Given the description of an element on the screen output the (x, y) to click on. 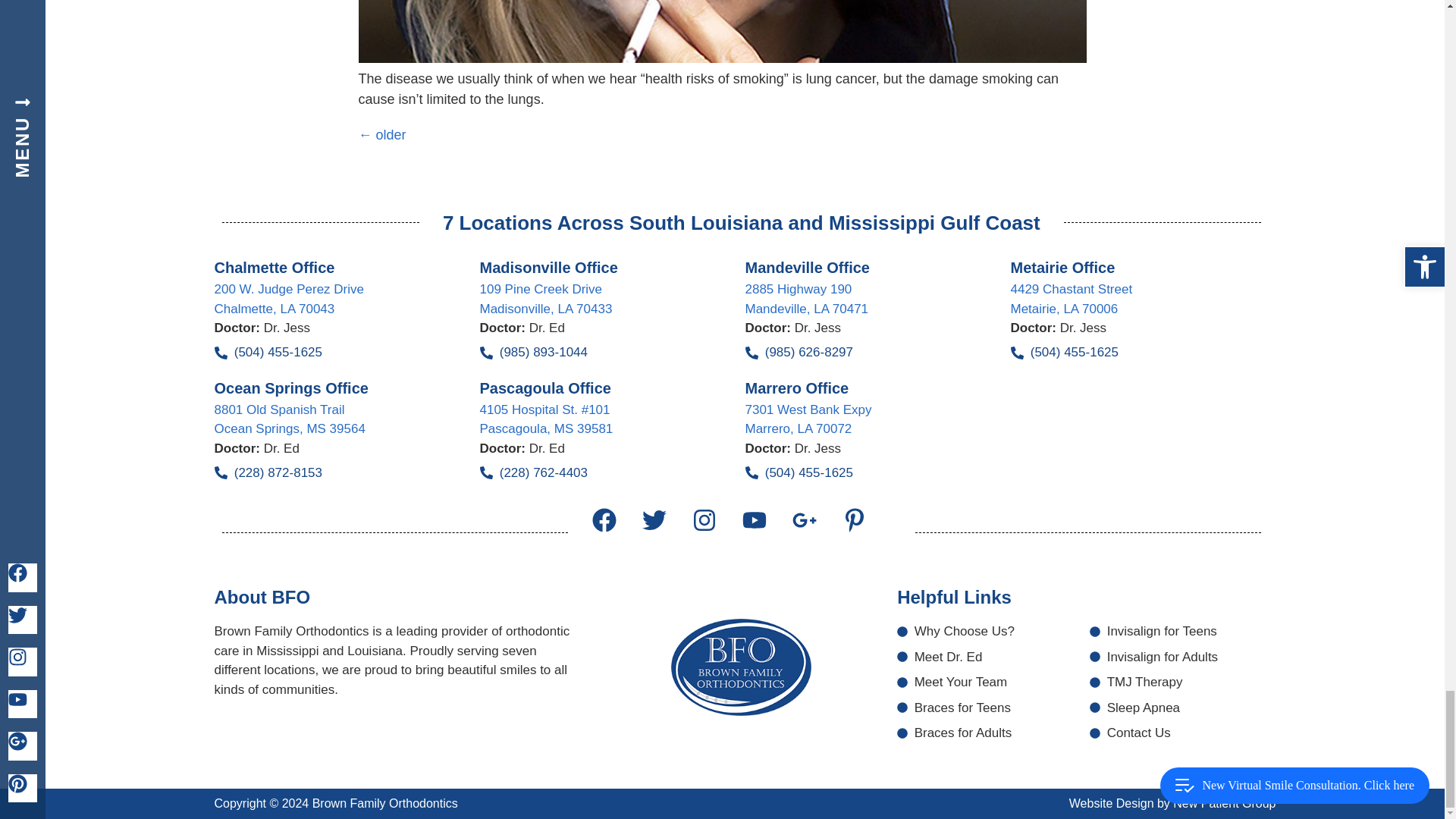
Open this Address on Google Maps (1071, 298)
Open this Address on Google Maps (545, 419)
Open this Address on Google Maps (289, 419)
Open this Address on Google Maps (545, 298)
Open this Address on Google Maps (807, 419)
Open this Address on Google Maps (805, 298)
